Given the description of an element on the screen output the (x, y) to click on. 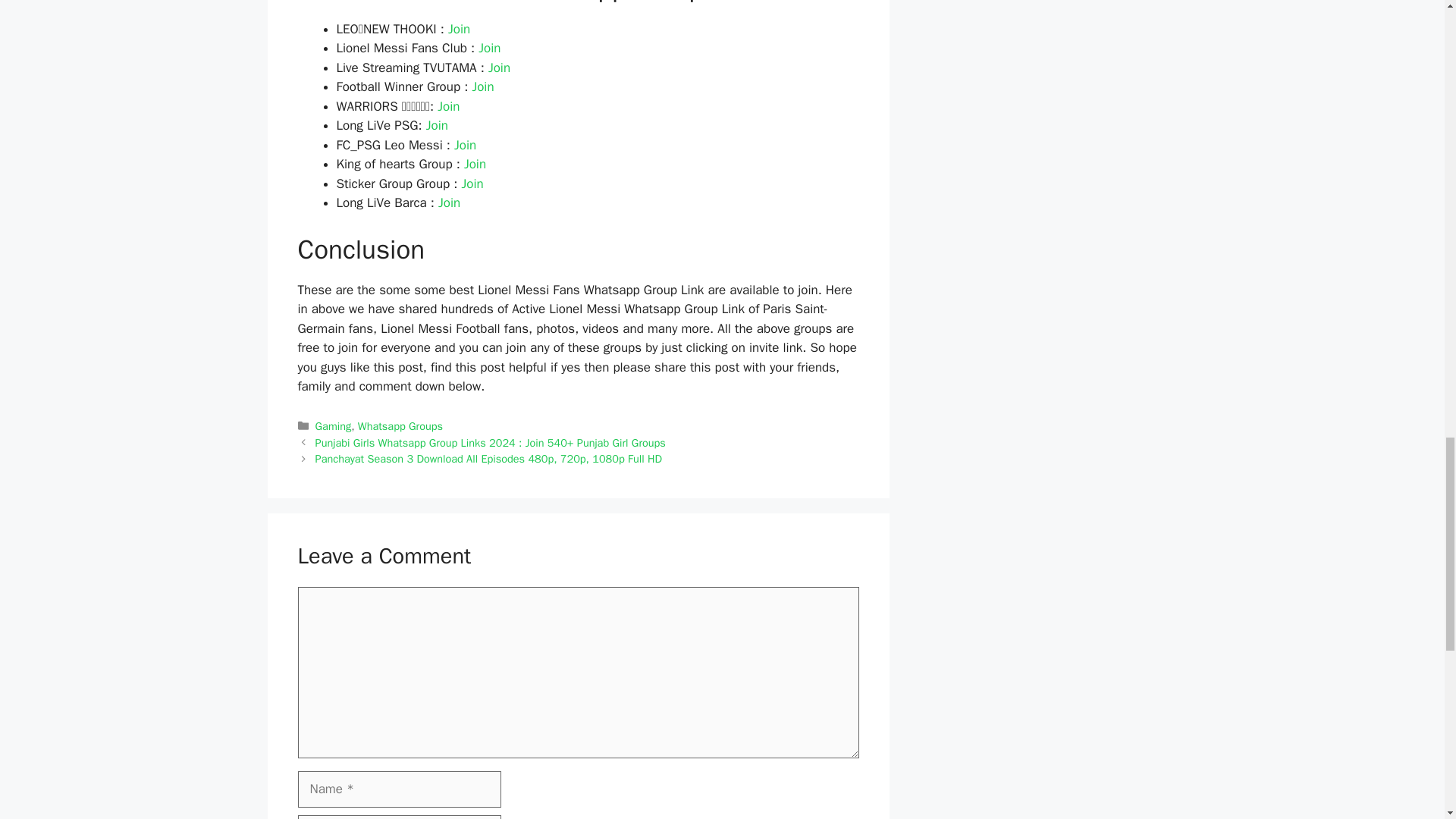
Join (437, 125)
Gaming (333, 426)
Join (499, 67)
Whatsapp Groups (400, 426)
Join (482, 86)
Join (449, 202)
Join (459, 28)
Join (449, 106)
Join (489, 48)
